Given the description of an element on the screen output the (x, y) to click on. 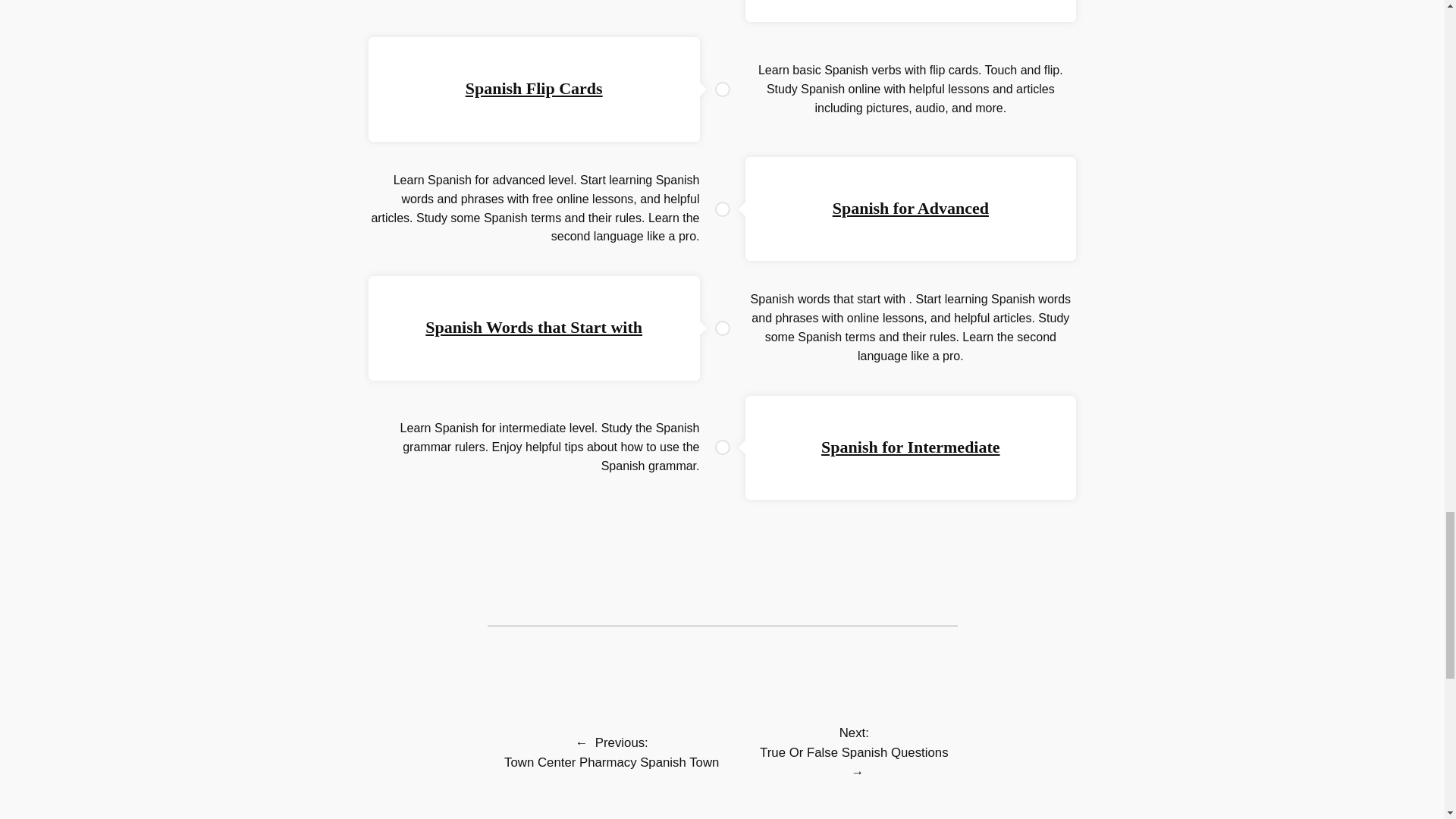
Next: True Or False Spanish Questions (853, 742)
Previous: Town Center Pharmacy Spanish Town (611, 752)
Spanish for Intermediate (910, 446)
Spanish for Advanced (910, 208)
Spanish Words that Start with (533, 326)
Spanish Flip Cards (533, 87)
